Given the description of an element on the screen output the (x, y) to click on. 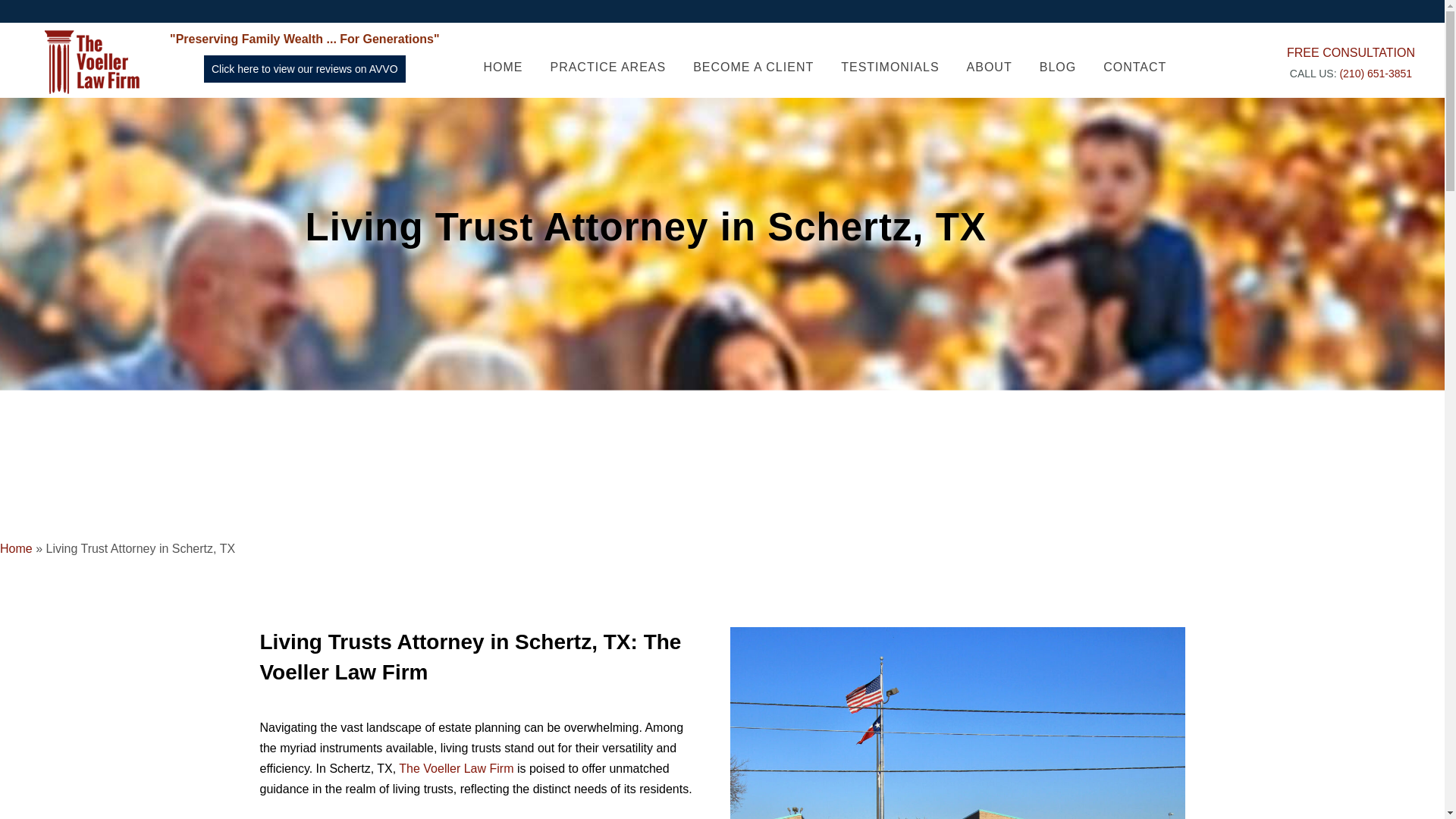
BECOME A CLIENT (753, 66)
logo (92, 62)
HOME (502, 66)
Click here to view our reviews on AVVO (304, 68)
PRACTICE AREAS (607, 66)
